Given the description of an element on the screen output the (x, y) to click on. 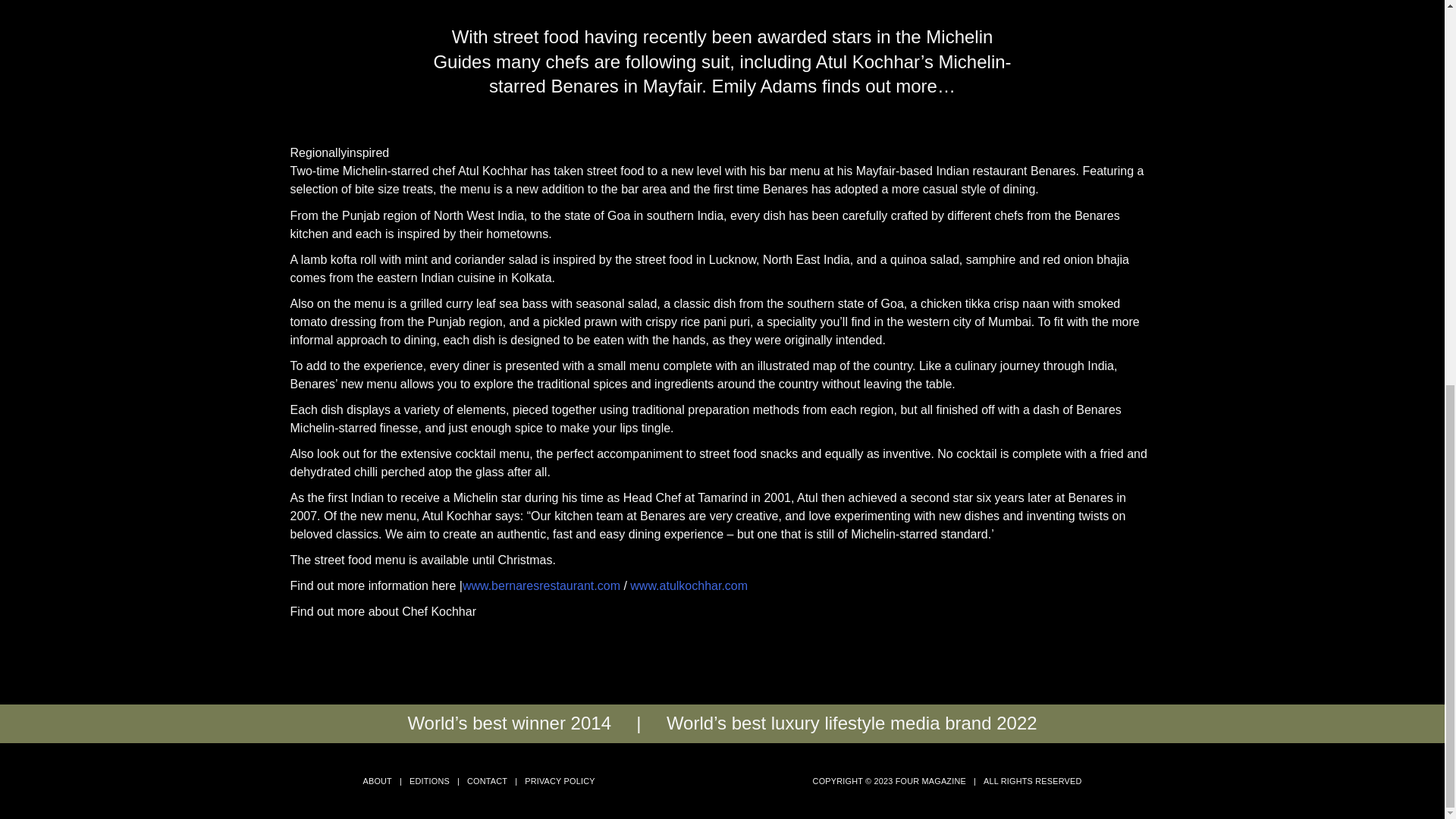
CONTACT (486, 780)
ABOUT (376, 780)
PRIVACY POLICY (559, 780)
EDITIONS (429, 780)
www.bernaresrestaurant.com (541, 585)
www.atulkochhar.com (689, 585)
